Given the description of an element on the screen output the (x, y) to click on. 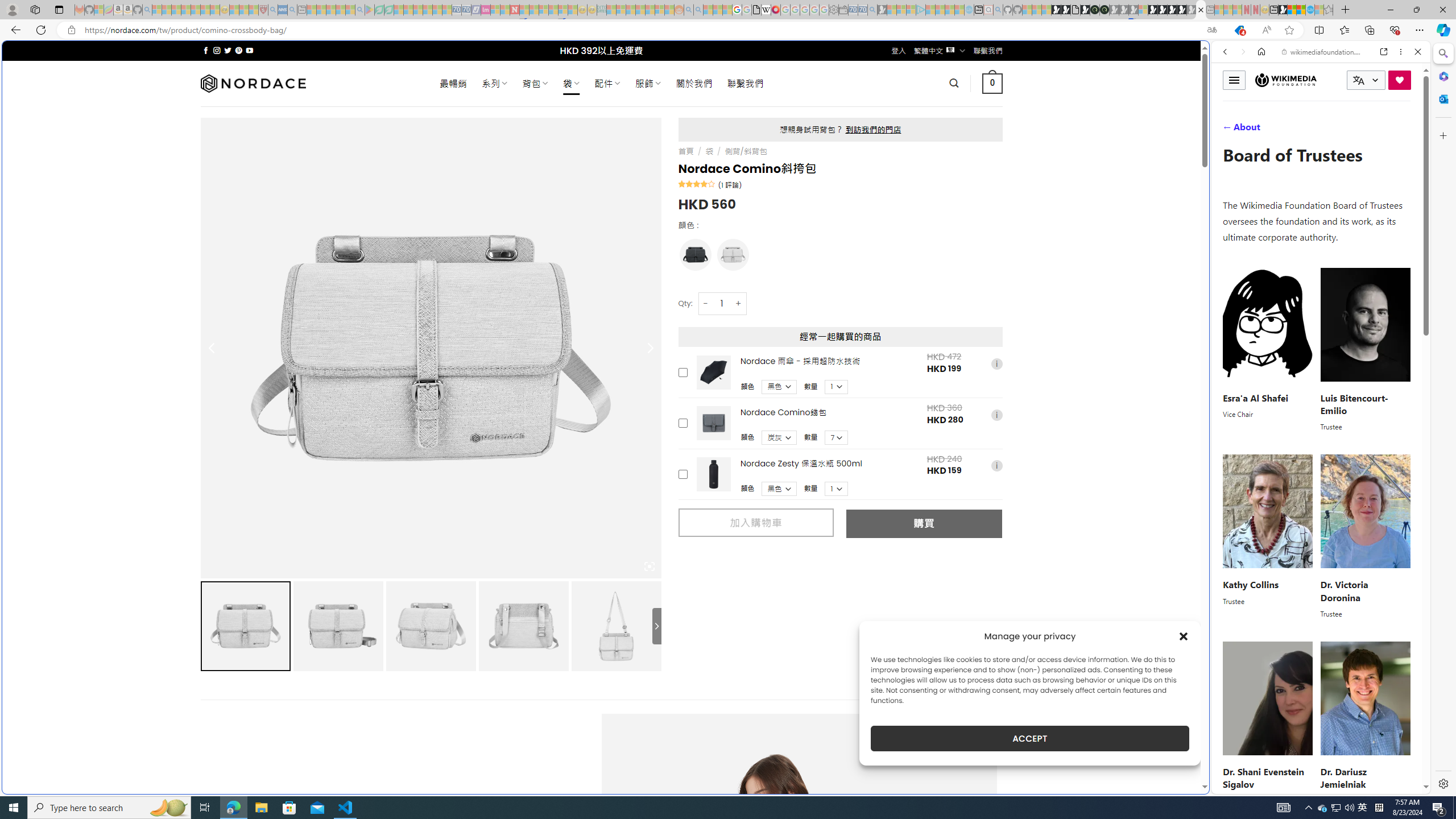
Luis Bitencourt-EmilioTrustee (1365, 349)
Target page - Wikipedia (766, 9)
